Given the description of an element on the screen output the (x, y) to click on. 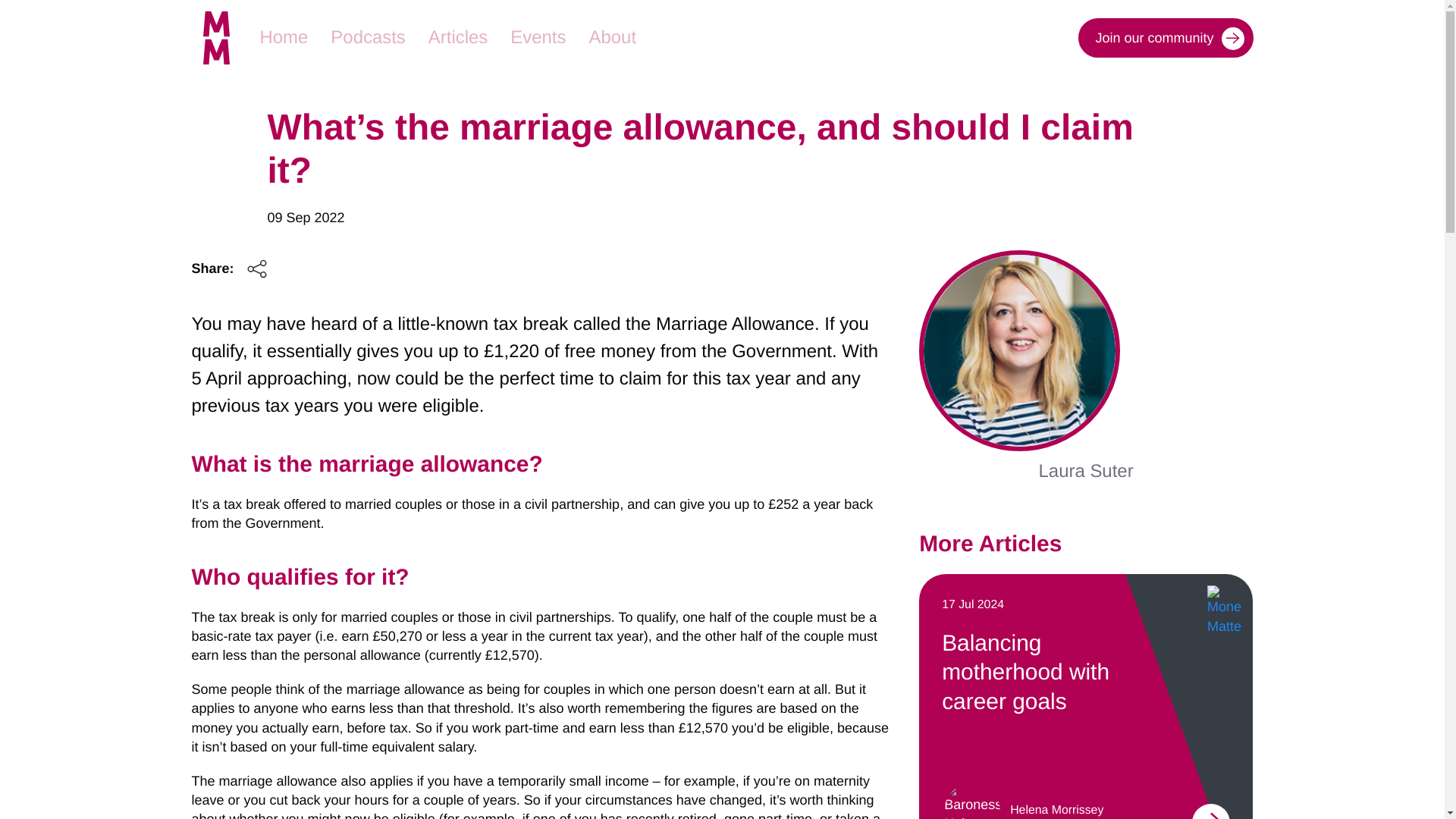
Articles (457, 37)
Podcasts (367, 37)
Home (284, 37)
Articles (457, 37)
Join our community (1165, 37)
Podcasts (367, 37)
About Money Matters (612, 37)
About (612, 37)
Events (537, 37)
Events (537, 37)
Home (220, 37)
Money Matters (284, 37)
